Given the description of an element on the screen output the (x, y) to click on. 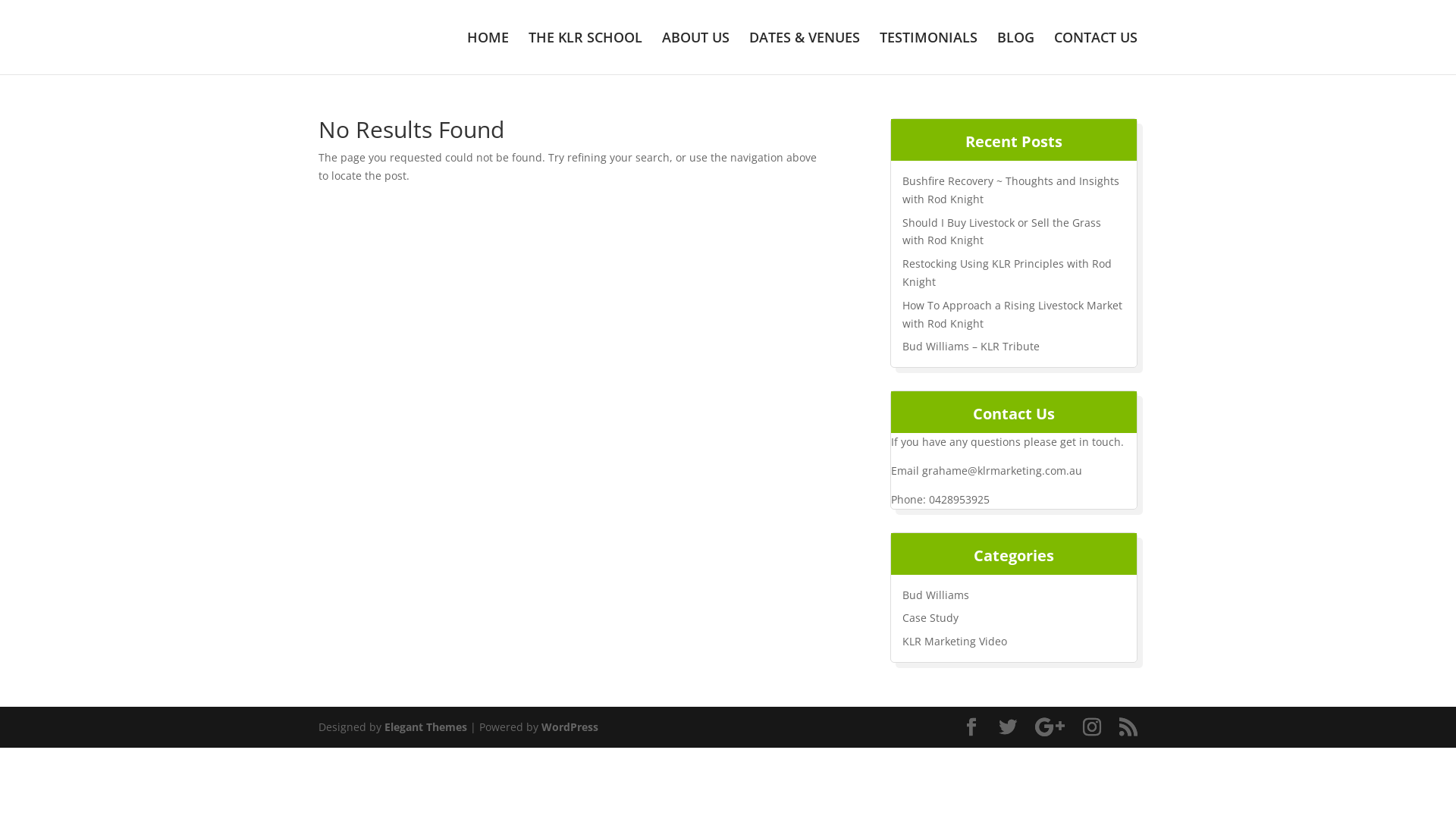
grahame@klrmarketing.com.au Element type: text (1002, 470)
KLR Marketing Video Element type: text (954, 640)
Bushfire Recovery ~ Thoughts and Insights with Rod Knight Element type: text (1010, 189)
Elegant Themes Element type: text (425, 726)
BLOG Element type: text (1015, 52)
DATES & VENUES Element type: text (804, 52)
Should I Buy Livestock or Sell the Grass with Rod Knight Element type: text (1001, 231)
Bud Williams Element type: text (935, 594)
HOME Element type: text (487, 52)
TESTIMONIALS Element type: text (928, 52)
ABOUT US Element type: text (695, 52)
WordPress Element type: text (569, 726)
How To Approach a Rising Livestock Market with Rod Knight Element type: text (1012, 314)
THE KLR SCHOOL Element type: text (585, 52)
0428953925 Element type: text (958, 499)
CONTACT US Element type: text (1095, 52)
Restocking Using KLR Principles with Rod Knight Element type: text (1006, 272)
Case Study Element type: text (930, 617)
